Given the description of an element on the screen output the (x, y) to click on. 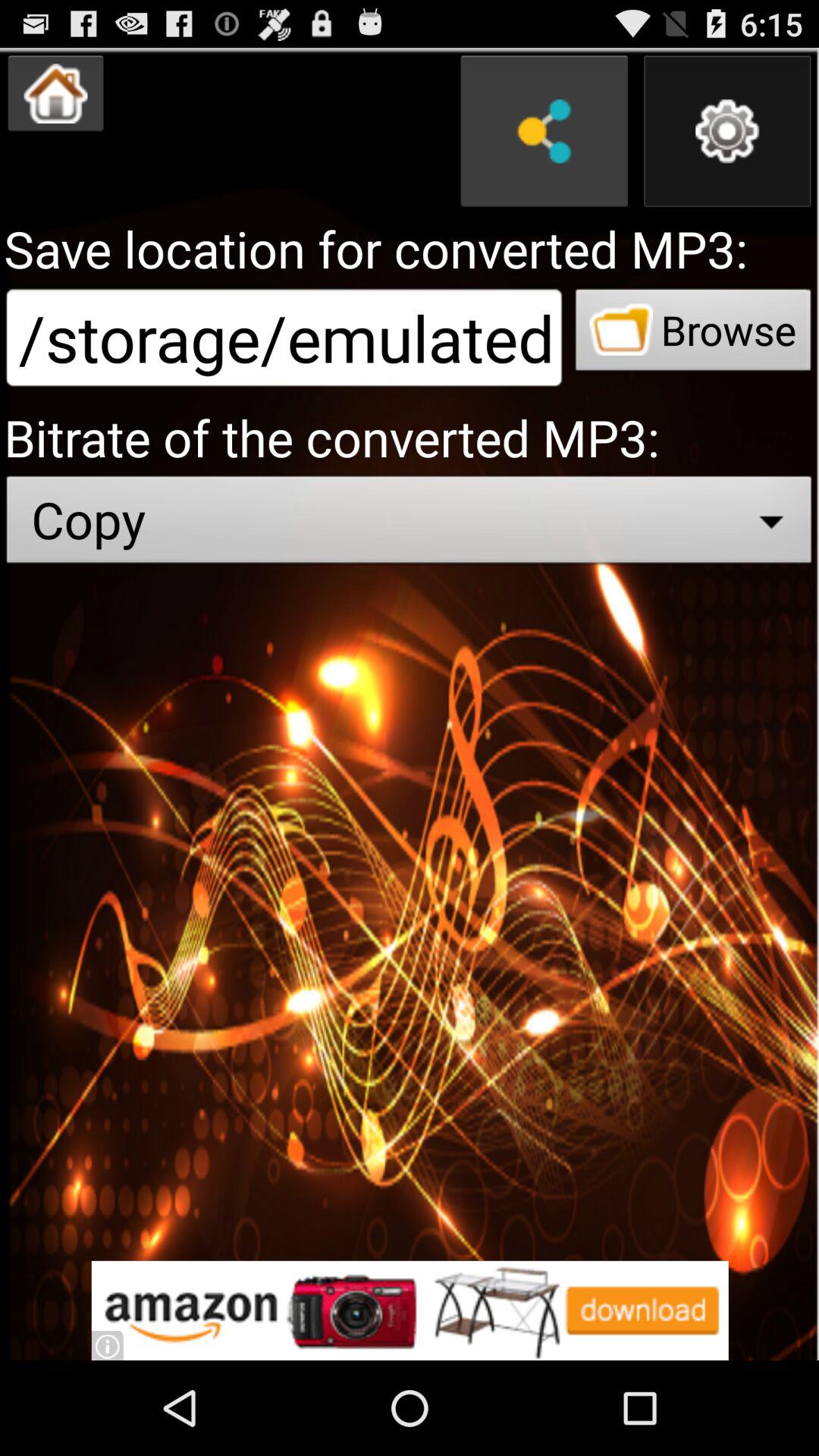
for share (543, 130)
